Given the description of an element on the screen output the (x, y) to click on. 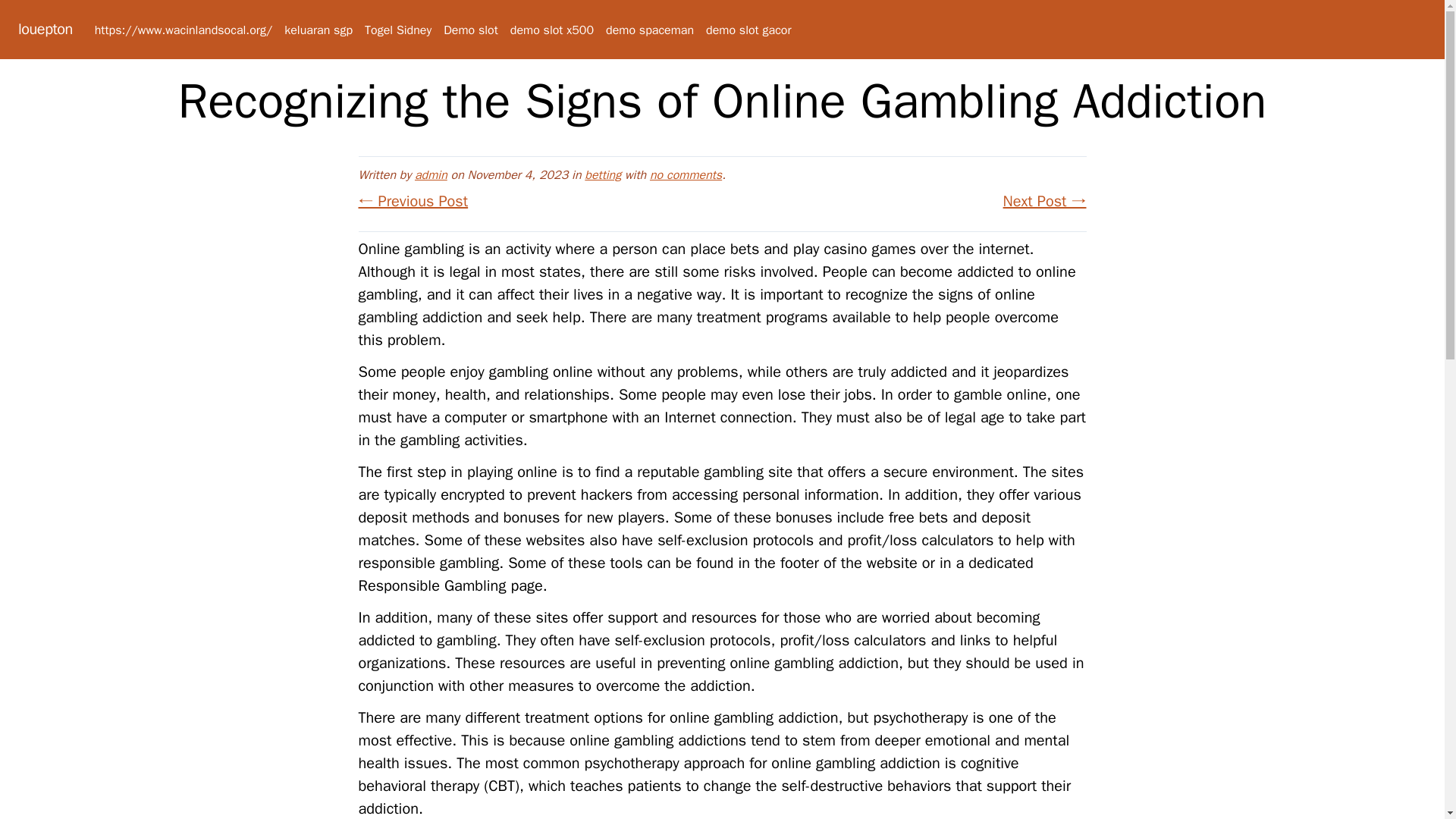
demo spaceman (649, 30)
Demo slot (470, 30)
Togel Sidney (397, 30)
betting (603, 174)
admin (430, 174)
keluaran sgp (317, 30)
no comments (685, 174)
demo slot gacor (748, 30)
demo slot x500 (552, 30)
louepton (44, 29)
